Given the description of an element on the screen output the (x, y) to click on. 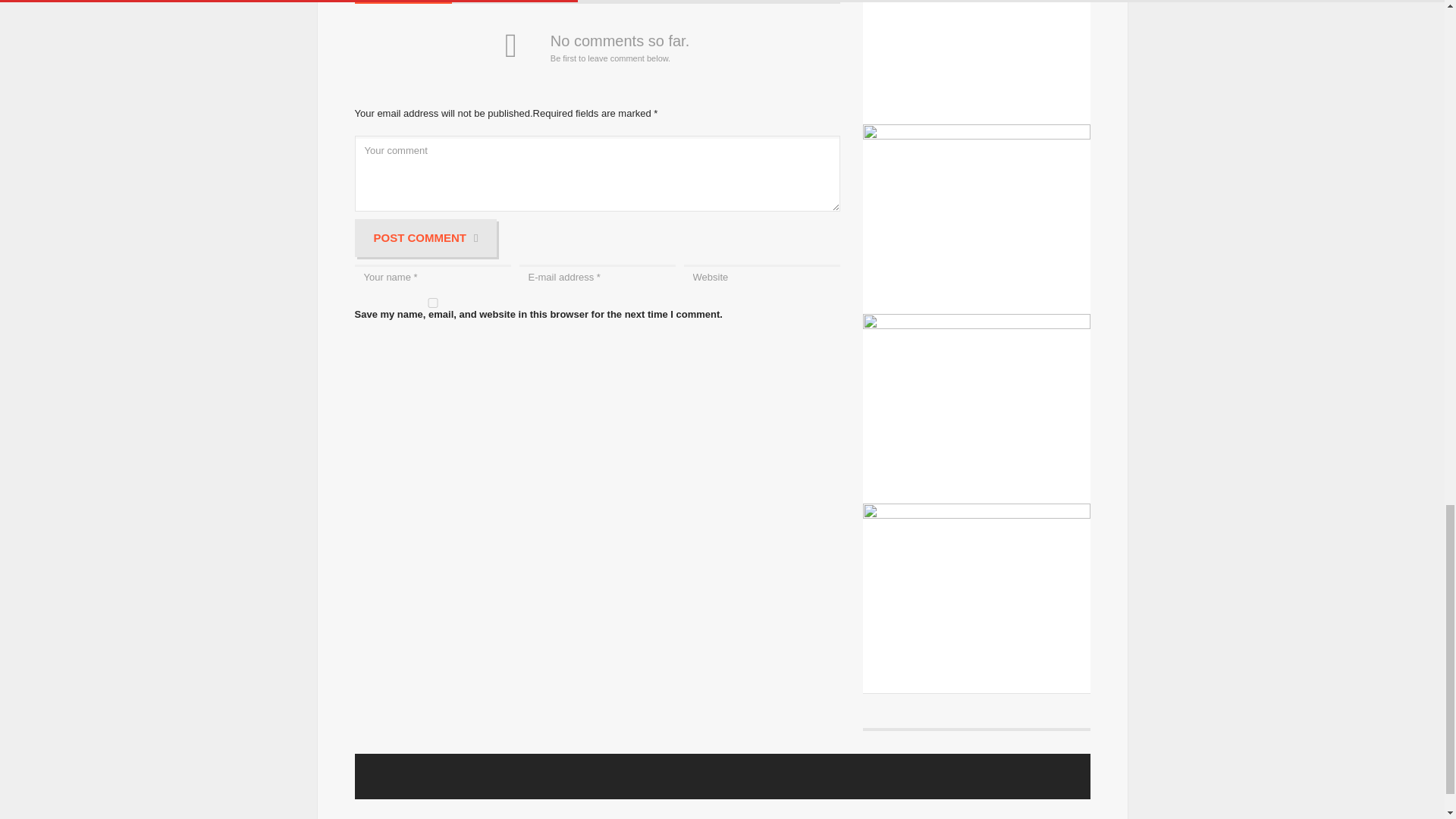
ADD A COMMENT (403, 2)
yes (433, 302)
POST COMMENT (426, 238)
